Given the description of an element on the screen output the (x, y) to click on. 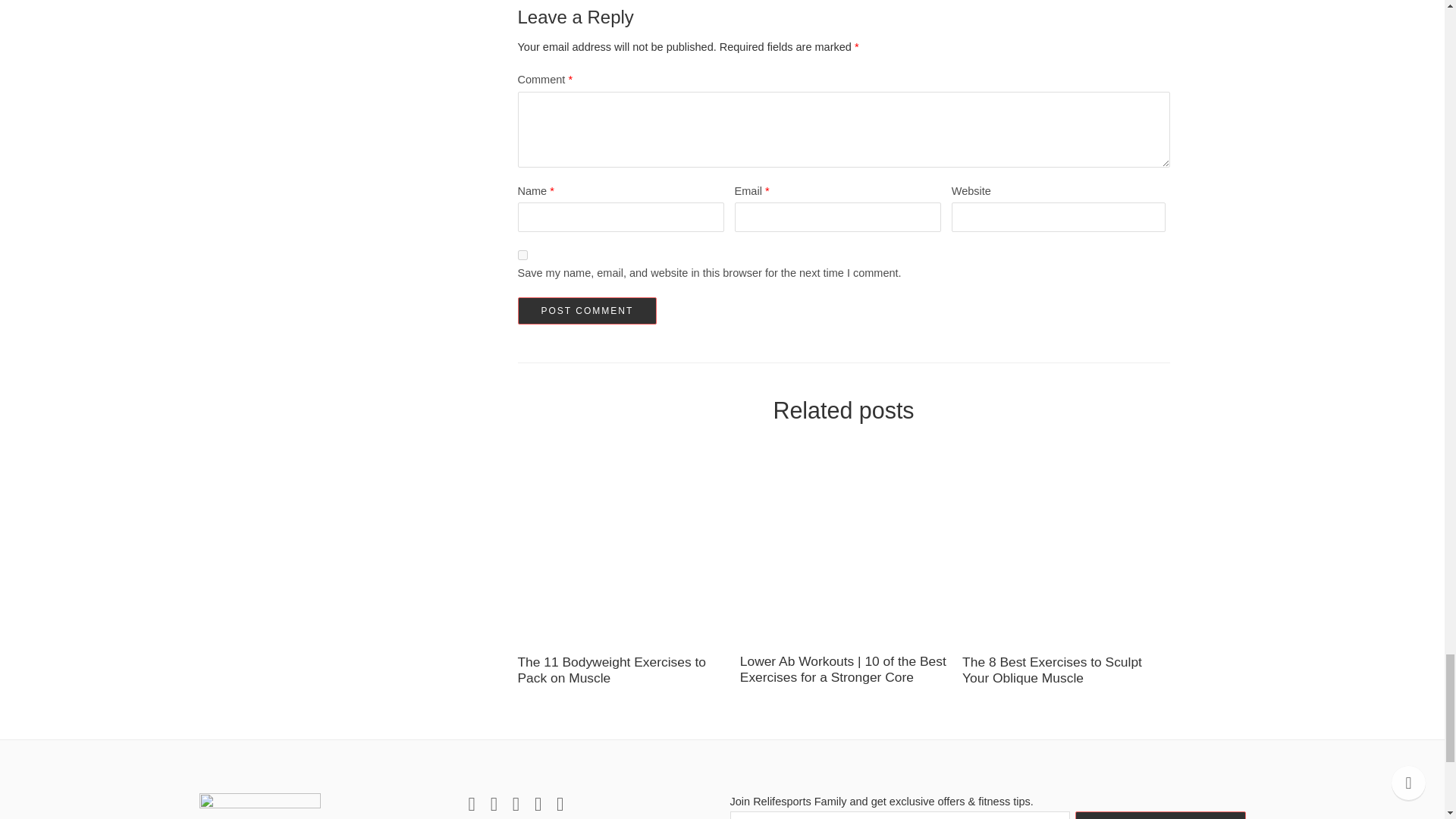
SUBSCRIBE (1159, 815)
Post Comment (586, 310)
yes (521, 255)
